Given the description of an element on the screen output the (x, y) to click on. 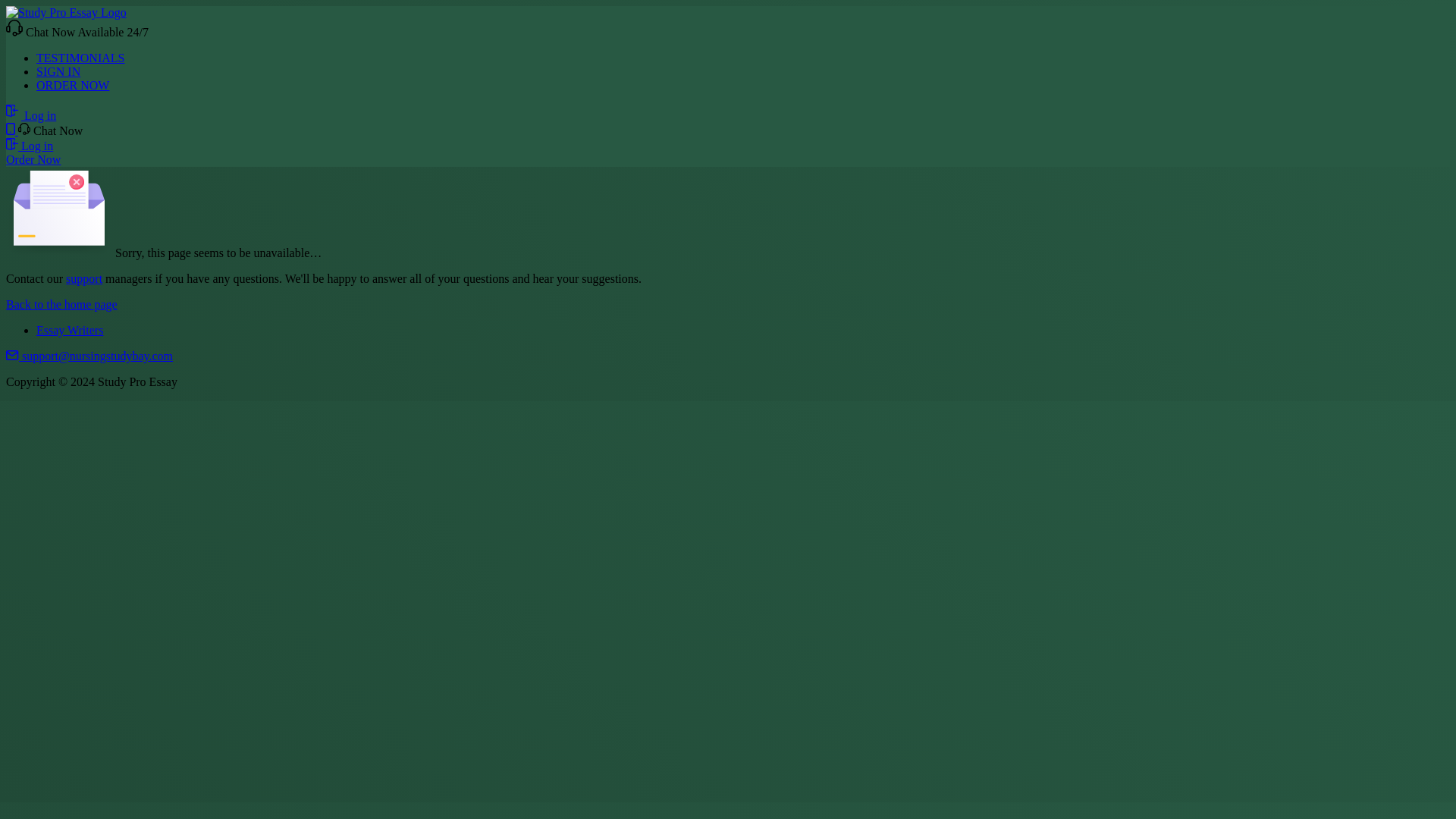
ORDER NOW (72, 84)
Back to the home page (61, 304)
Essay Writers (69, 329)
SIGN IN (58, 71)
Log in (30, 115)
Log in (28, 145)
TESTIMONIALS (79, 57)
Chat Now (49, 130)
Order Now (33, 159)
support (83, 278)
